Given the description of an element on the screen output the (x, y) to click on. 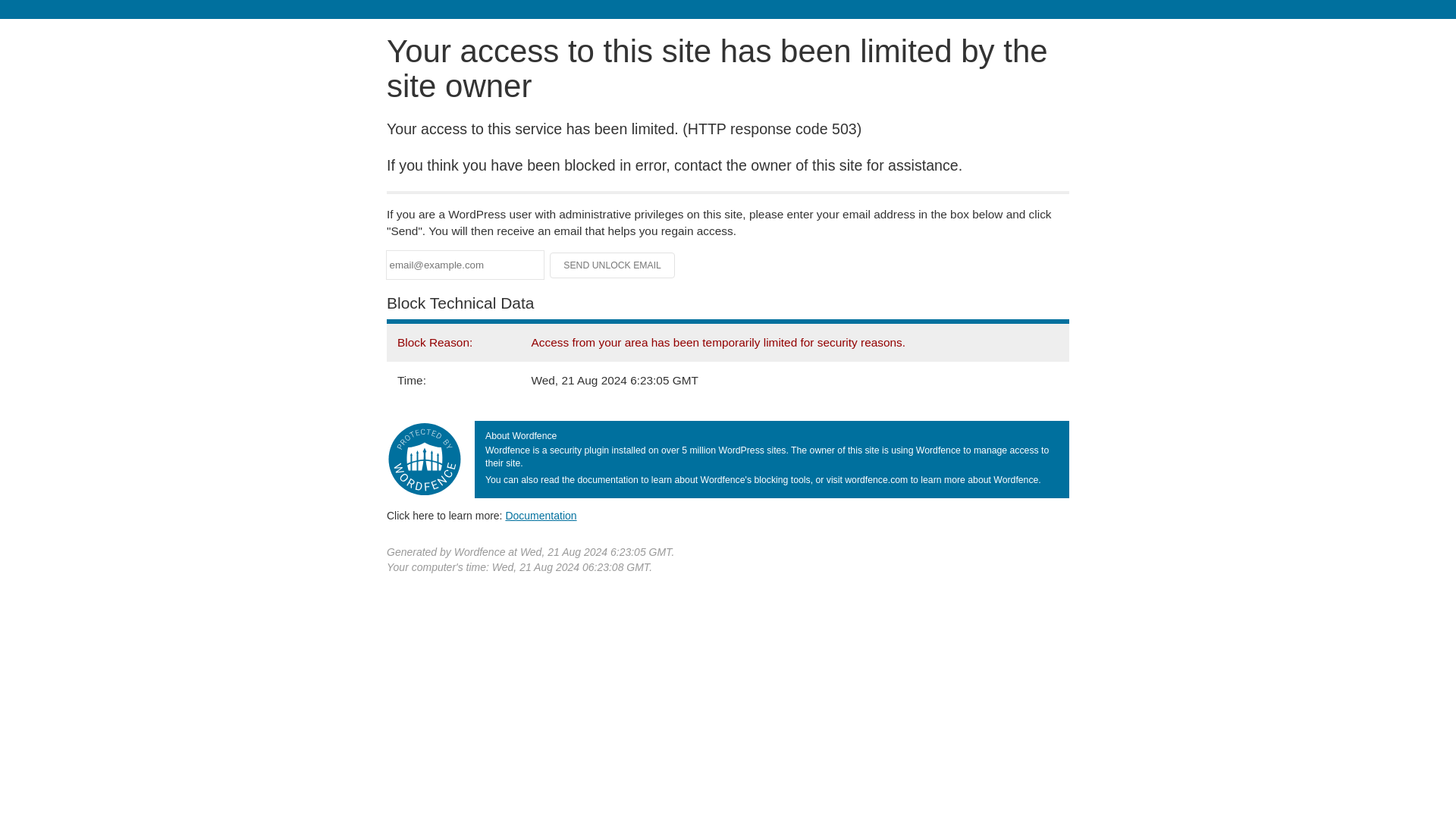
Documentation (540, 515)
Send Unlock Email (612, 265)
Send Unlock Email (612, 265)
